Given the description of an element on the screen output the (x, y) to click on. 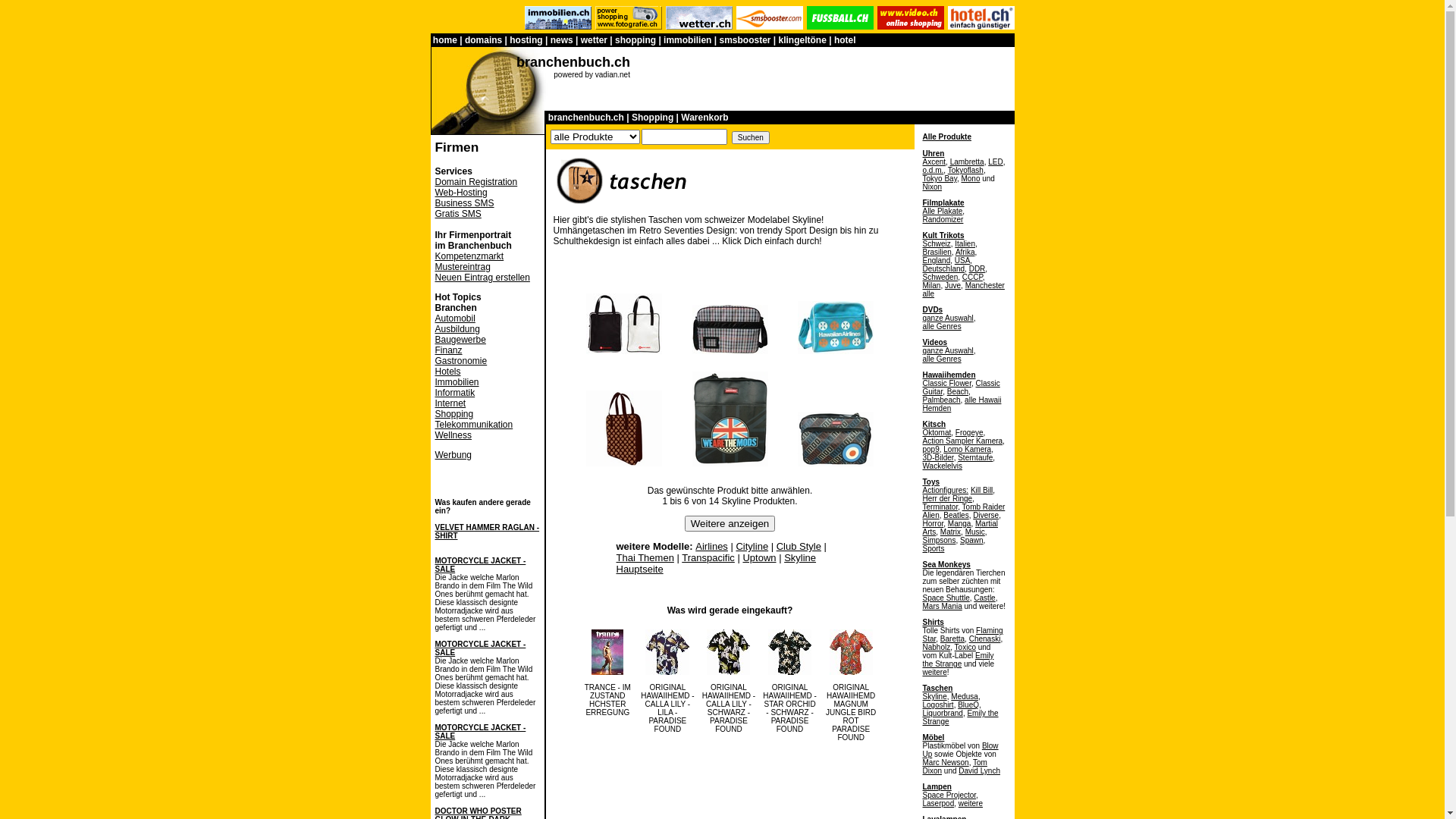
Automobil Element type: text (455, 318)
branchenbuch.ch Element type: text (573, 61)
Italien Element type: text (964, 243)
wetter Element type: text (593, 39)
Logoshirt Element type: text (937, 704)
Randomizer Element type: text (942, 219)
Uptown Element type: text (758, 557)
Beach Element type: text (957, 391)
Sterntaufe Element type: text (974, 457)
Tokyoflash Element type: text (965, 170)
Cityline Element type: text (751, 546)
MOTORCYCLE JACKET - SALE Element type: text (480, 564)
Immobilien Element type: text (457, 381)
CCCP Element type: text (972, 277)
Filmplakate Element type: text (942, 202)
Shirts Element type: text (932, 622)
Castle Element type: text (983, 597)
Emily the Strange Element type: text (959, 717)
Alle Produkte Element type: text (946, 136)
Kult Trikots Element type: text (942, 235)
Lambretta Element type: text (967, 161)
Blow Up Element type: text (959, 749)
Transpacific Element type: text (707, 557)
Finanz Element type: text (448, 350)
weitere Element type: text (934, 672)
Informatik Element type: text (455, 392)
Videos Element type: text (934, 342)
shopping Element type: text (635, 39)
David Lynch Element type: text (979, 770)
Club Style Element type: text (798, 546)
3D-Bilder Element type: text (937, 457)
Skyline Element type: text (934, 696)
Mars Mania Element type: text (941, 606)
Weitere anzeigen Element type: text (729, 523)
Axcent Element type: text (933, 161)
Alle Plakate Element type: text (942, 211)
Gratis SMS Element type: text (458, 213)
alle Element type: text (928, 293)
Neuen Eintrag erstellen Element type: text (482, 277)
Horror Element type: text (932, 523)
MOTORCYCLE JACKET - SALE Element type: text (480, 731)
Terminator Element type: text (939, 506)
DDR Element type: text (977, 268)
Sports Element type: text (933, 548)
Airlines Element type: text (711, 546)
Business SMS Element type: text (464, 202)
Juve Element type: text (952, 285)
pop9 Element type: text (930, 449)
Music Element type: text (975, 531)
home Element type: text (445, 39)
Medusa Element type: text (964, 696)
Marc Newson Element type: text (945, 762)
weitere Element type: text (970, 803)
Manchester Element type: text (984, 285)
Internet Element type: text (450, 403)
Wellness Element type: text (453, 434)
alle Genres Element type: text (941, 358)
Space Shuttle Element type: text (945, 597)
Diverse Element type: text (985, 515)
Taschen Element type: text (937, 688)
Milan Element type: text (931, 285)
Shopping Element type: text (454, 413)
alle Genres Element type: text (941, 326)
Manga Element type: text (959, 523)
Mustereintrag Element type: text (462, 266)
Deutschland Element type: text (943, 268)
Tokyo Bay Element type: text (939, 178)
Tom Dixon Element type: text (954, 766)
Telekommunikation Element type: text (474, 424)
Frogeye Element type: text (969, 432)
Classic Guitar Element type: text (960, 387)
domains Element type: text (483, 39)
Schweden Element type: text (939, 277)
Tomb Raider Element type: text (983, 506)
Actionfigures: Element type: text (945, 490)
Nixon Element type: text (931, 186)
Lampen Element type: text (936, 786)
Beatles Element type: text (955, 515)
Brasilien Element type: text (936, 251)
Laserpod Element type: text (937, 803)
Matrix Element type: text (950, 531)
Shopping Element type: text (652, 117)
Wackelelvis Element type: text (941, 465)
Sea Monkeys Element type: text (945, 564)
Suchen Element type: text (750, 137)
alle Hawaii Hemden Element type: text (961, 403)
Liquorbrand Element type: text (942, 713)
branchenbuch.ch Element type: text (586, 117)
Warenkorb Element type: text (704, 117)
Martial Arts Element type: text (959, 527)
Palmbeach Element type: text (941, 399)
Thai Themen Element type: text (644, 557)
Flaming Star Element type: text (962, 634)
Chenaski Element type: text (985, 638)
USA Element type: text (962, 260)
Kompetenzmarkt Element type: text (469, 256)
Skyline Hauptseite Element type: text (715, 563)
Afrika Element type: text (965, 251)
MOTORCYCLE JACKET - SALE Element type: text (480, 648)
Space Projector Element type: text (948, 794)
Spawn Element type: text (971, 540)
Uhren Element type: text (933, 153)
Web-Hosting Element type: text (461, 192)
hotel Element type: text (845, 39)
Action Sampler Kamera Element type: text (962, 440)
DVDs Element type: text (932, 309)
Schweiz Element type: text (936, 243)
Kitsch Element type: text (933, 424)
LED Element type: text (995, 161)
news Element type: text (561, 39)
hosting Element type: text (525, 39)
Baugewerbe Element type: text (460, 339)
Hotels Element type: text (448, 371)
BlueQ Element type: text (968, 704)
Alien Element type: text (930, 515)
Ausbildung Element type: text (457, 328)
Baretta Element type: text (952, 638)
Herr der Ringe Element type: text (947, 498)
Gastronomie Element type: text (461, 360)
Emily the Strange Element type: text (957, 659)
Simpsons Element type: text (938, 540)
Firmen Element type: text (457, 146)
Lomo Kamera Element type: text (967, 449)
Werbung Element type: text (453, 454)
Oktomat Element type: text (936, 432)
Nabholz Element type: text (936, 647)
Hawaiihemden Element type: text (948, 374)
Mono Element type: text (969, 178)
Was kaufen andere gerade ein? Element type: text (482, 506)
Toxico Element type: text (964, 647)
Classic Flower Element type: text (946, 383)
VELVET HAMMER RAGLAN - SHIRT Element type: text (487, 531)
Kill Bill Element type: text (981, 490)
smsbooster Element type: text (744, 39)
Toys Element type: text (930, 481)
ganze Auswahl Element type: text (947, 317)
powered by vadian.net Element type: text (591, 74)
ganze Auswahl Element type: text (947, 350)
o.d.m. Element type: text (932, 170)
Domain Registration Element type: text (476, 181)
immobilien Element type: text (687, 39)
England Element type: text (936, 260)
